Given the description of an element on the screen output the (x, y) to click on. 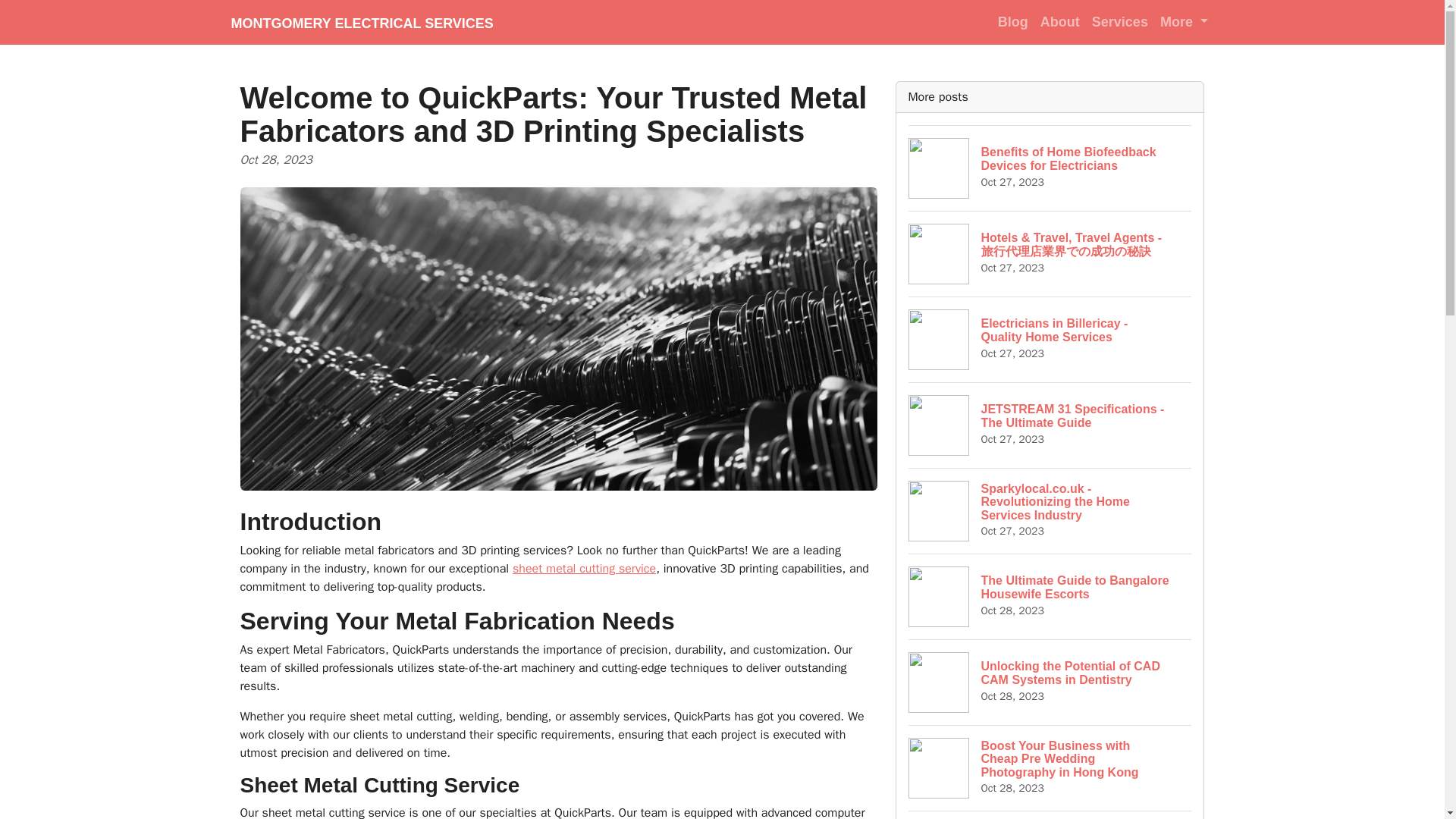
MONTGOMERY ELECTRICAL SERVICES (361, 22)
Blog (1012, 21)
More (1184, 21)
About (1059, 21)
Services (1120, 21)
